Given the description of an element on the screen output the (x, y) to click on. 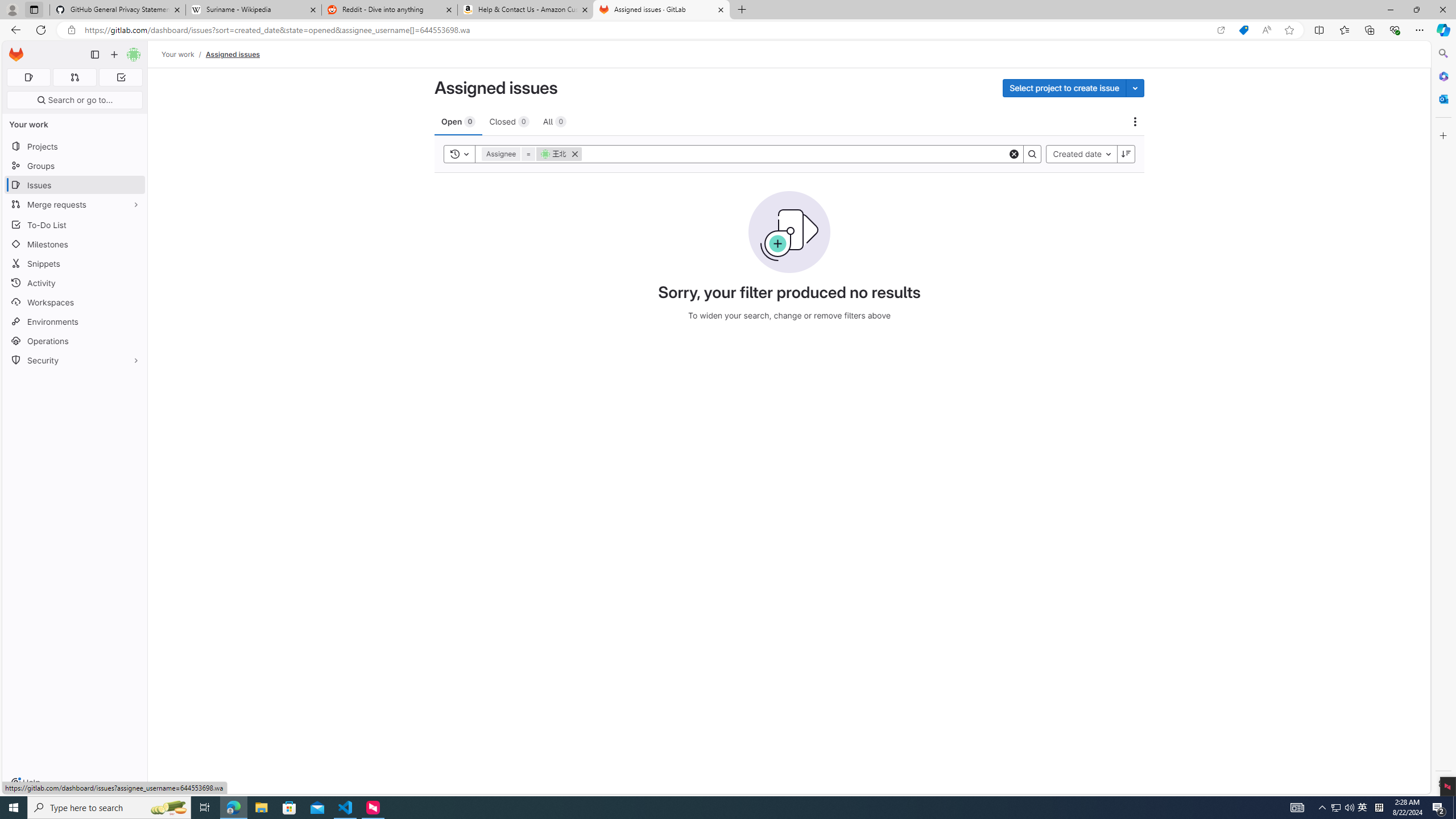
Select project to create issue (1064, 87)
Assigned issues (232, 53)
Your work/ (183, 53)
Milestones (74, 244)
Activity (74, 282)
Sort direction: Descending (1125, 153)
Milestones (74, 244)
Suriname - Wikipedia (253, 9)
